Given the description of an element on the screen output the (x, y) to click on. 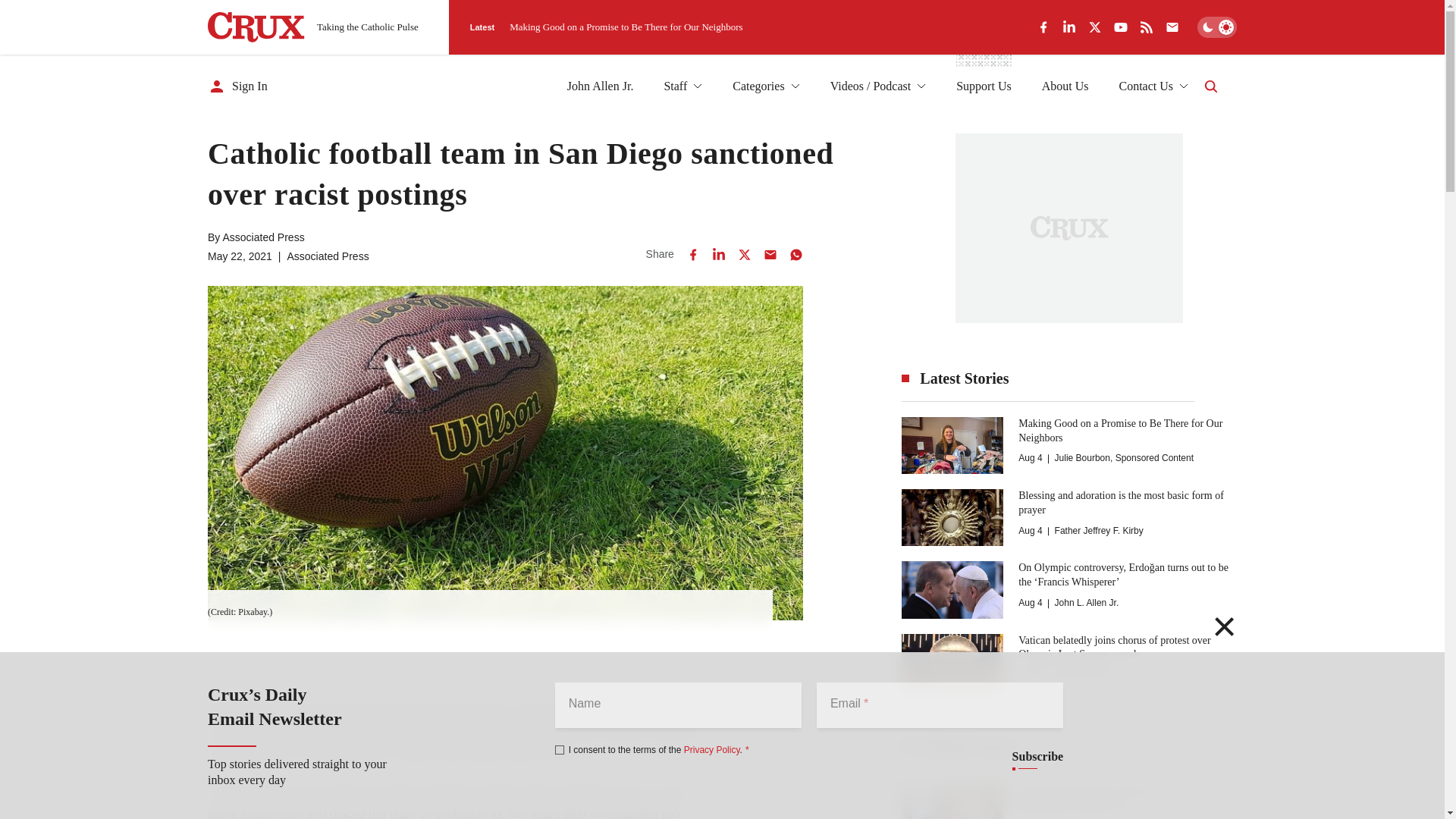
true (559, 749)
Subscribe (1037, 756)
John Allen Jr. (600, 85)
Sign In (237, 85)
Staff (682, 85)
Support Us (983, 85)
Privacy Policy (711, 749)
Making Good on a Promise to Be There for Our Neighbors (625, 27)
Categories (765, 85)
